Given the description of an element on the screen output the (x, y) to click on. 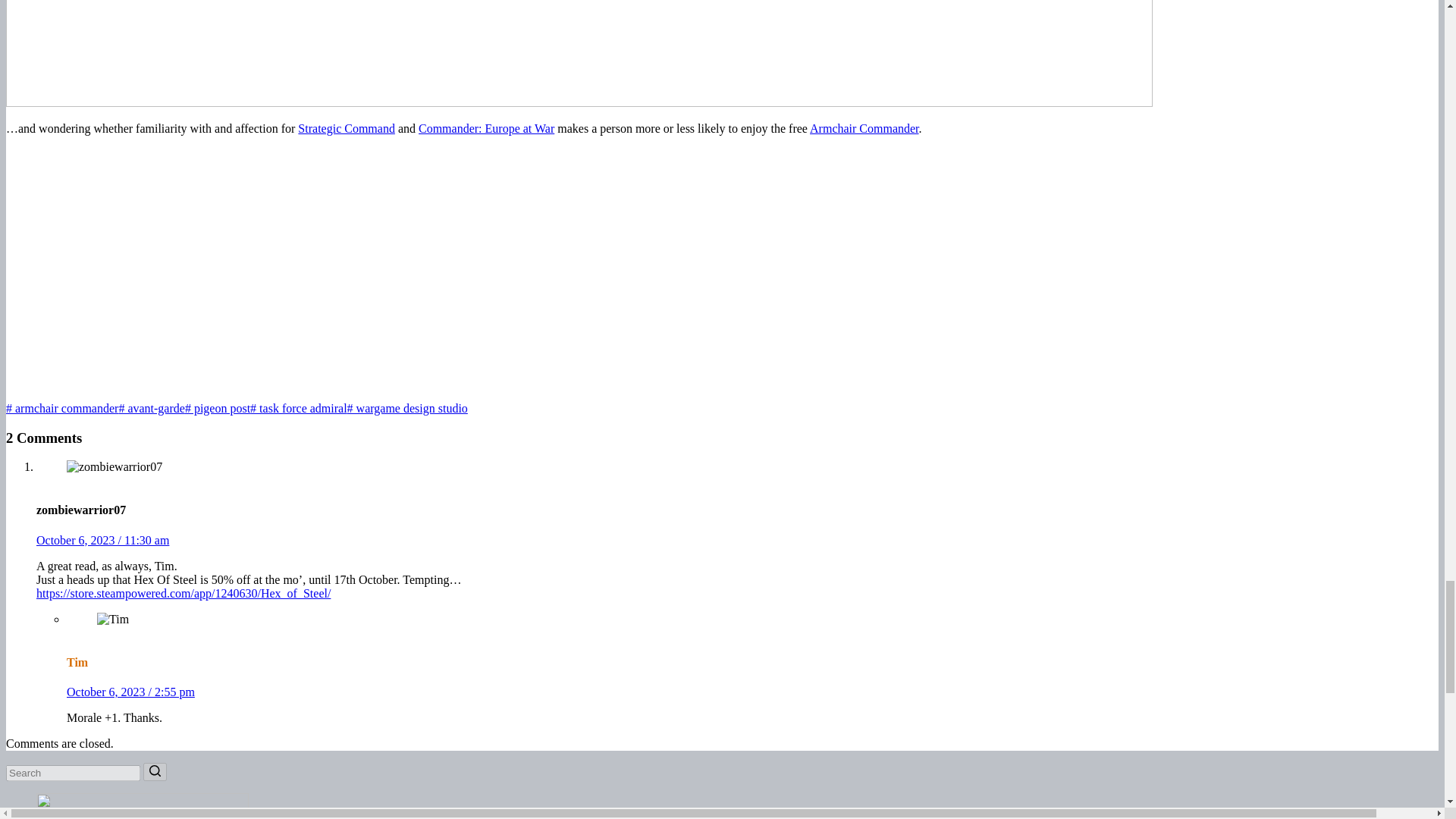
Strategic Command (346, 128)
Search Input (72, 772)
Commander: Europe at War (486, 128)
Armchair Commander (863, 128)
YouTube video player (217, 267)
